Given the description of an element on the screen output the (x, y) to click on. 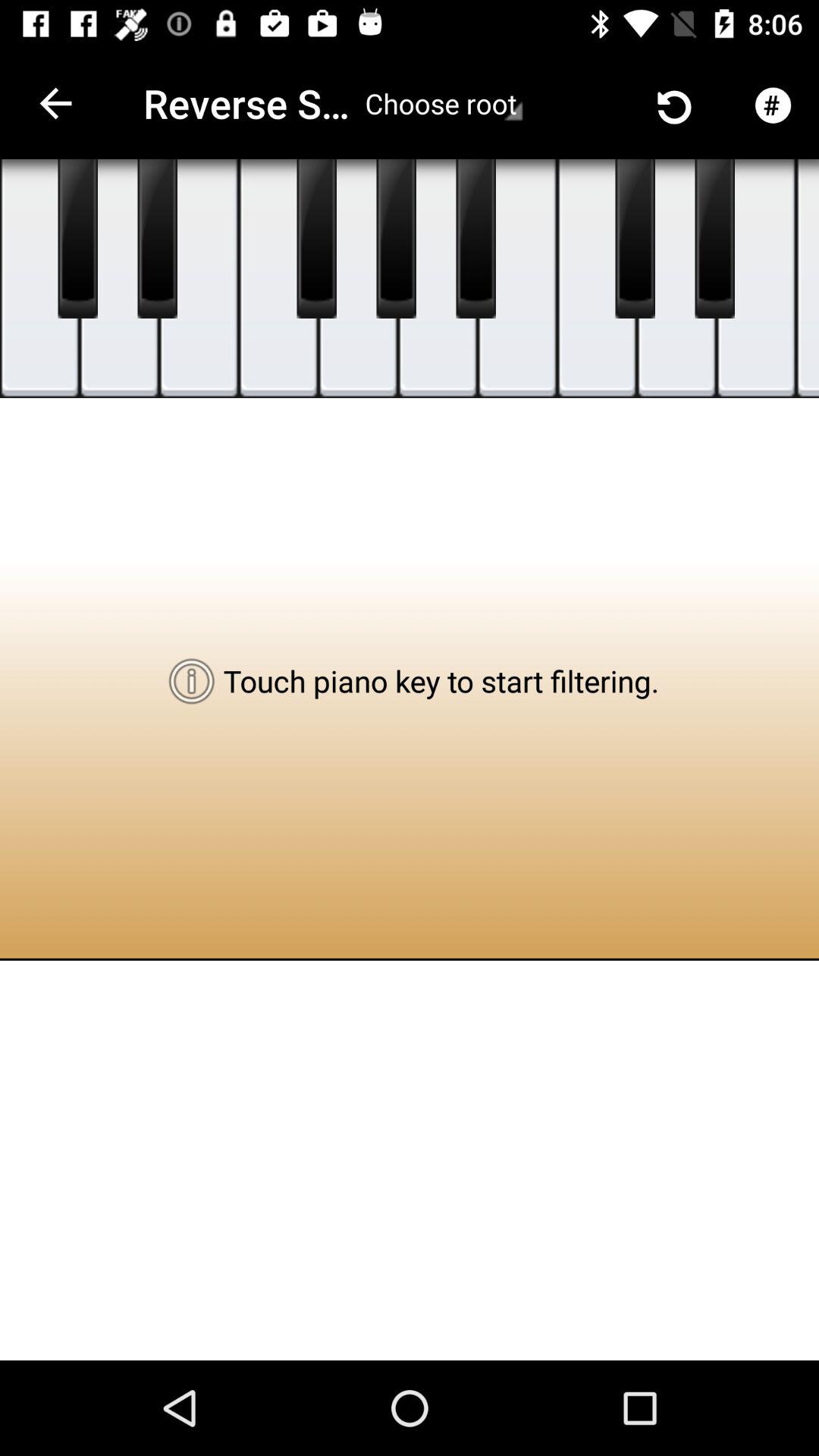
launch item above touch piano key icon (517, 278)
